Given the description of an element on the screen output the (x, y) to click on. 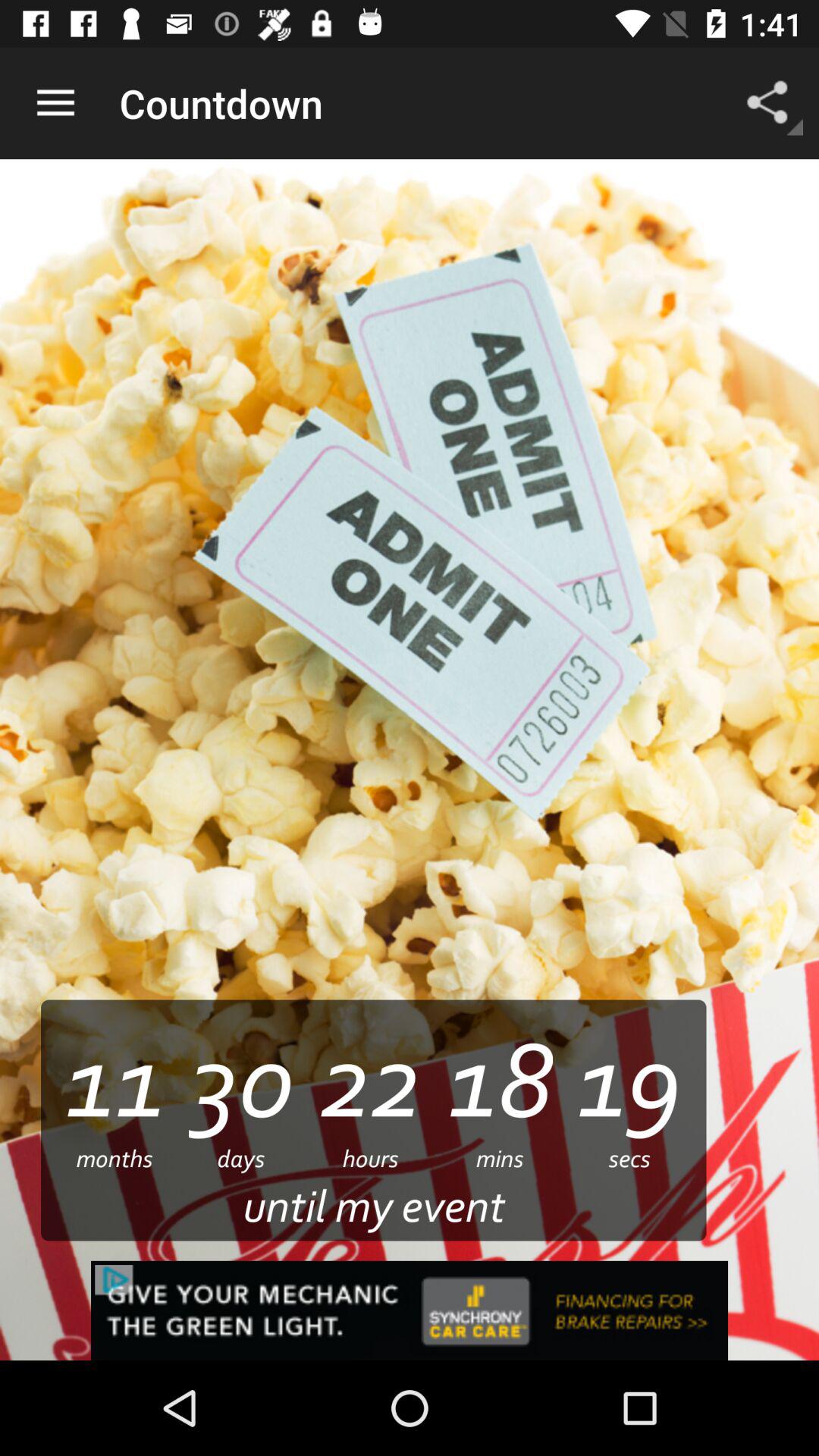
opens up an application form for financing (409, 1310)
